Given the description of an element on the screen output the (x, y) to click on. 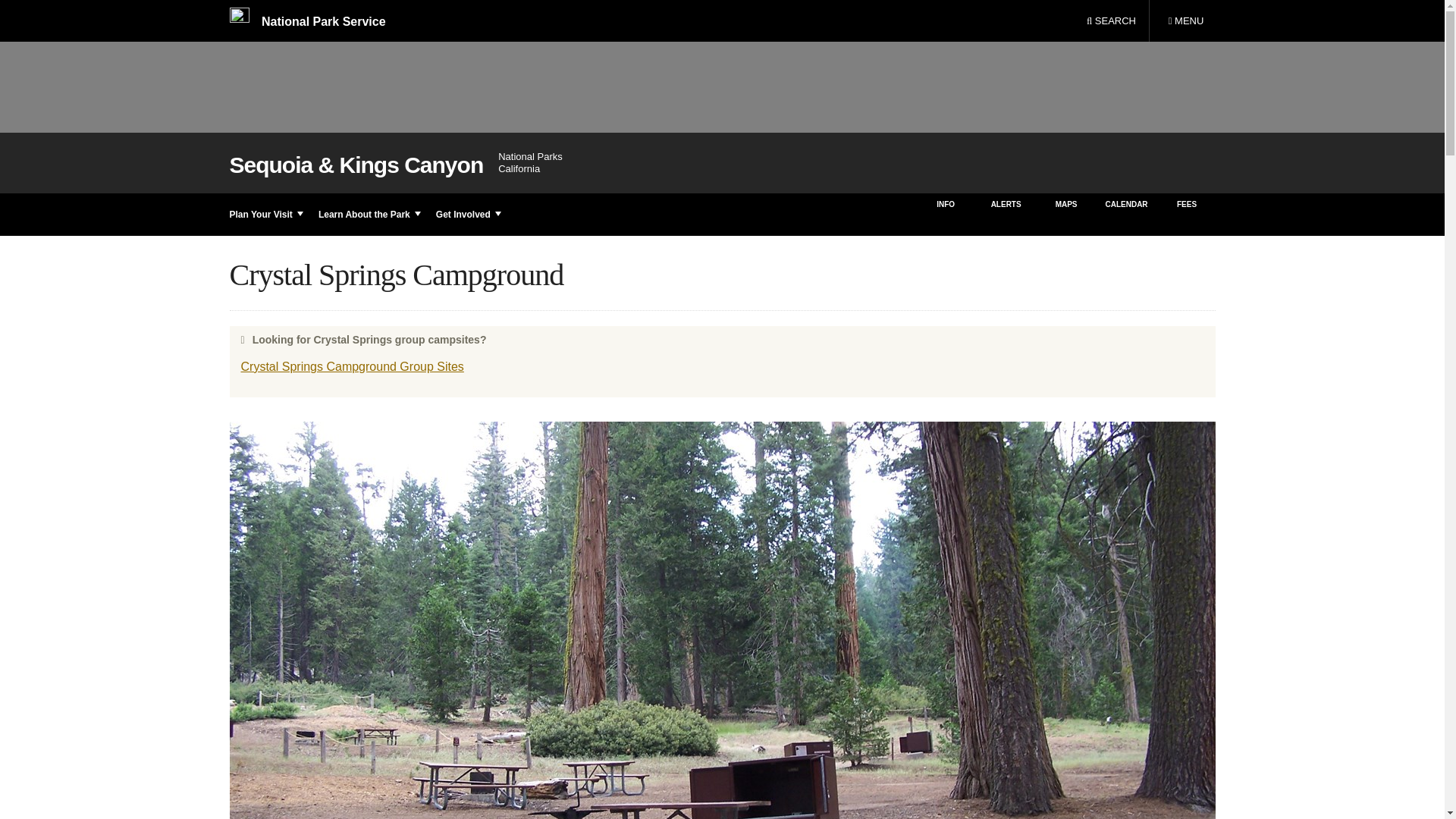
Grant Grove Campground (1185, 20)
National Park Service (1111, 20)
